Given the description of an element on the screen output the (x, y) to click on. 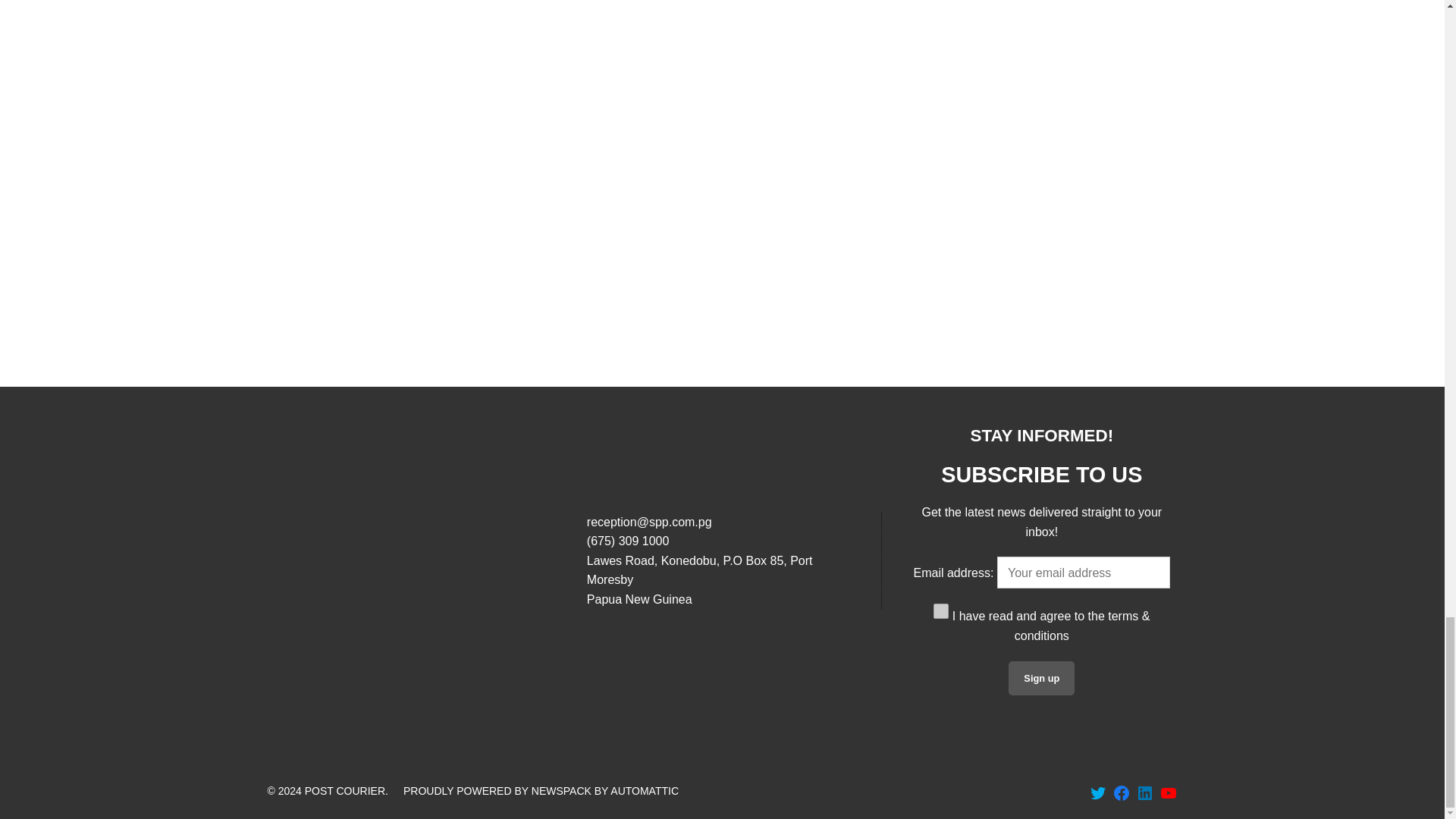
Sign up (1041, 678)
Open address in Google Maps (721, 580)
VideoPress Video Player (1040, 146)
1 (941, 611)
